Given the description of an element on the screen output the (x, y) to click on. 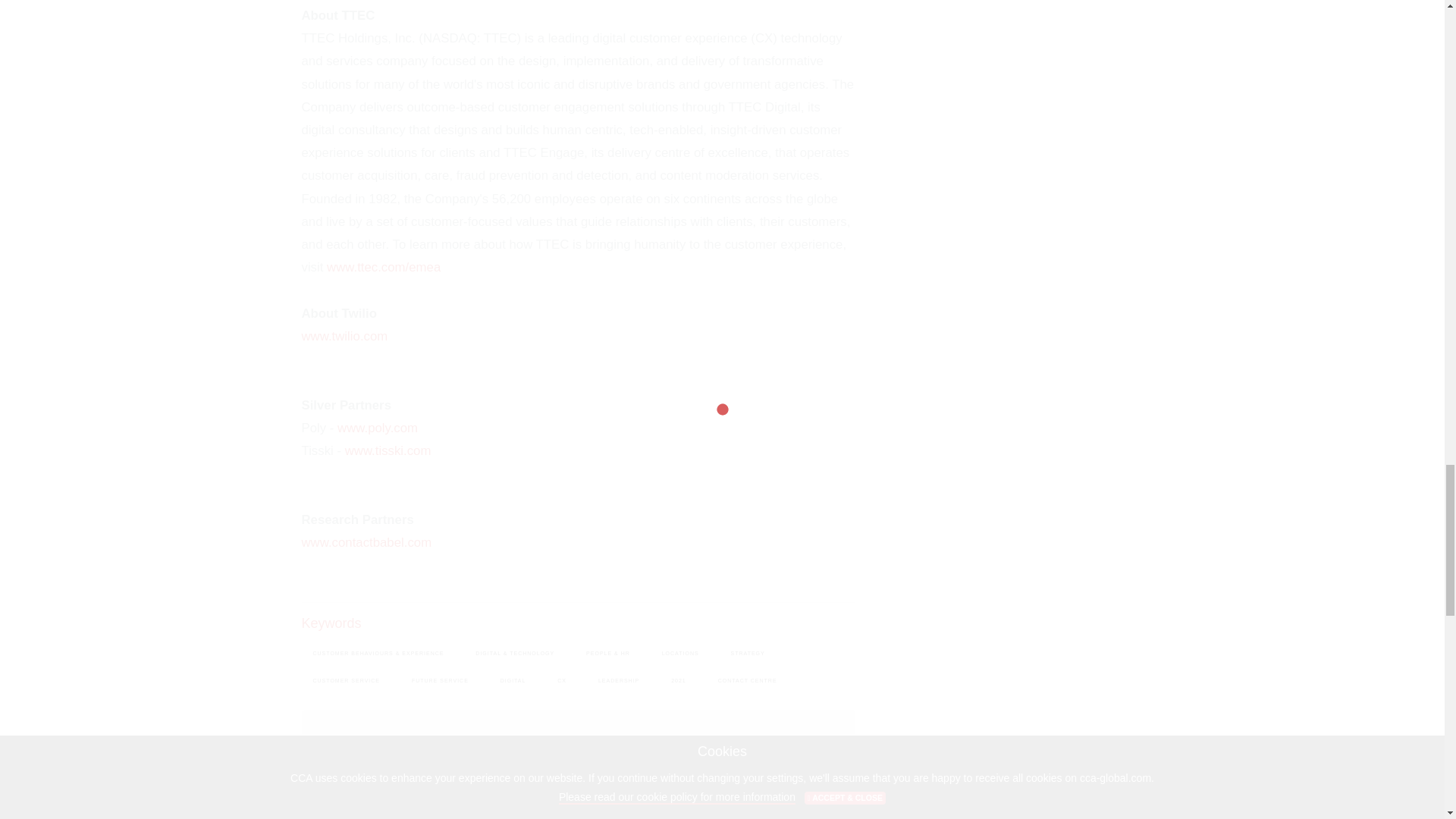
www.tisski.com (387, 450)
CX (562, 680)
CUSTOMER SERVICE (346, 680)
LEADERSHIP (618, 680)
CONTACT CENTRE (747, 680)
LOCATIONS (680, 653)
2021 (678, 680)
FUTURE SERVICE (440, 680)
STRATEGY (747, 653)
www.twilio.com (344, 336)
